Given the description of an element on the screen output the (x, y) to click on. 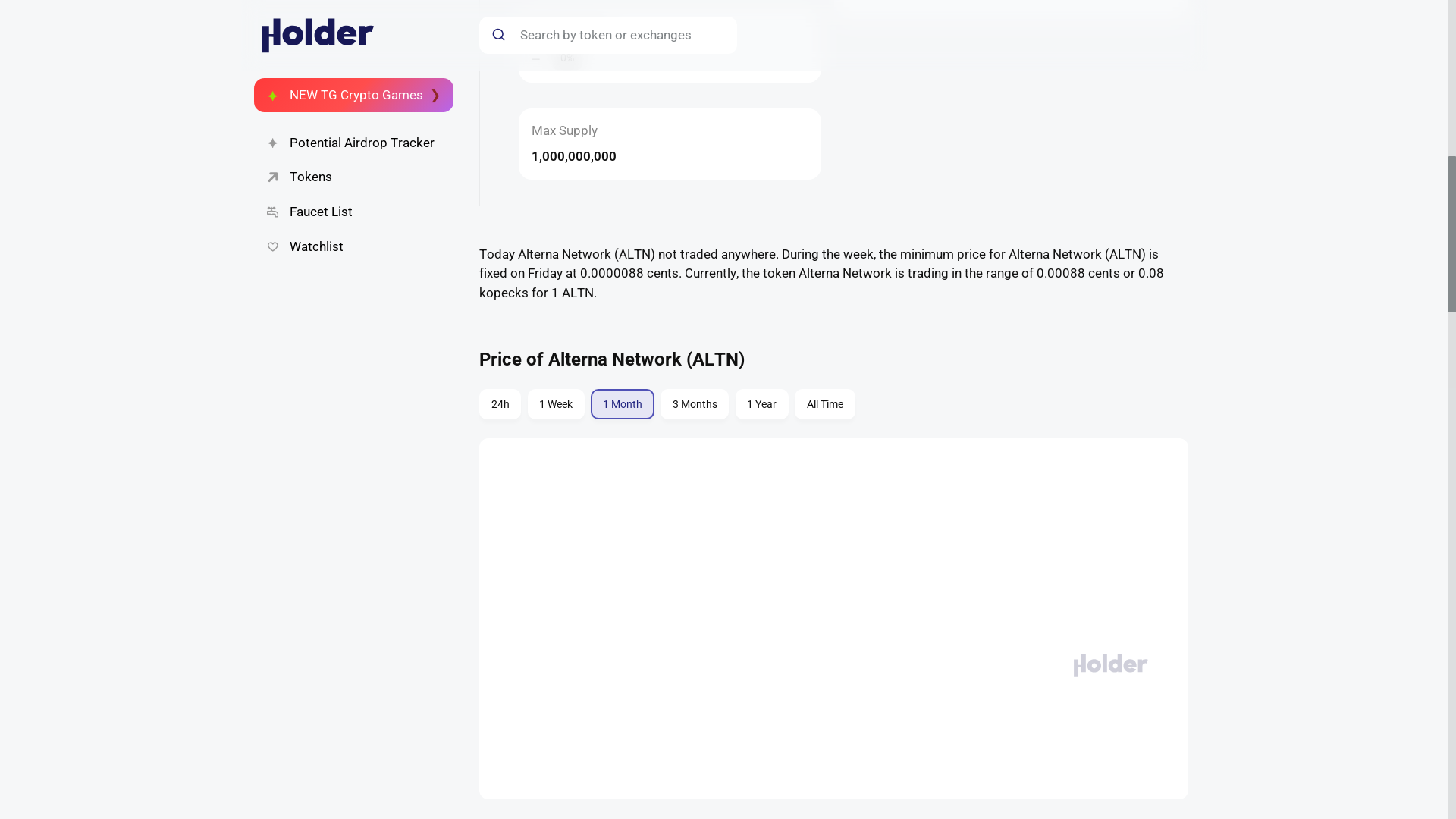
1 Year (833, 407)
3 Months (762, 403)
1 Month (695, 403)
All Time (622, 403)
1 Week (824, 403)
24h (556, 403)
